Given the description of an element on the screen output the (x, y) to click on. 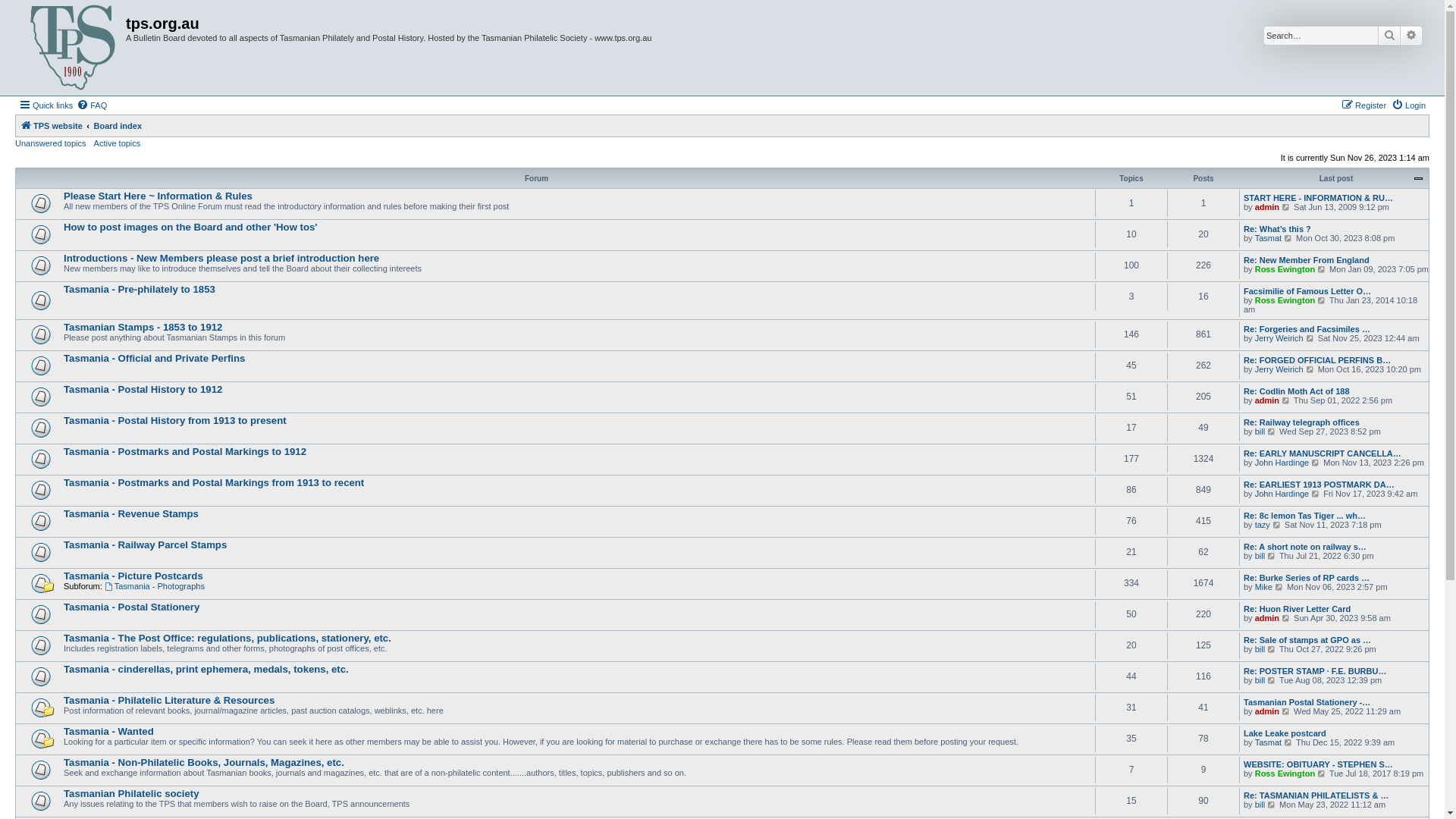
John Hardinge Element type: text (1282, 462)
Search for keywords Element type: hover (1320, 35)
Ross Ewington Element type: text (1284, 299)
View the latest post Element type: text (1272, 431)
Tasmania - Postmarks and Postal Markings from 1913 to recent Element type: text (213, 482)
View the latest post Element type: text (1316, 462)
Re: Railway telegraph offices Element type: text (1301, 421)
View the latest post Element type: text (1272, 555)
Please Start Here ~ Information & Rules Element type: text (157, 195)
Quick links Element type: text (45, 105)
View the latest post Element type: text (1286, 399)
Tasmania - Picture Postcards Element type: text (133, 575)
Tasmania - Postal History from 1913 to present Element type: text (174, 420)
Re: New Member From England Element type: text (1306, 259)
View the latest post Element type: text (1279, 586)
View the latest post Element type: text (1272, 648)
bill Element type: text (1259, 431)
Unanswered topics Element type: text (50, 142)
View the latest post Element type: text (1288, 237)
Tasmania - Pre-philately to 1853 Element type: text (139, 288)
View the latest post Element type: text (1277, 524)
FAQ Element type: text (91, 105)
admin Element type: text (1267, 206)
Advanced search Element type: text (1410, 35)
Login Element type: text (1408, 105)
Tasmania - Wanted Element type: text (108, 731)
View the latest post Element type: text (1316, 493)
View the latest post Element type: text (1286, 206)
bill Element type: text (1259, 679)
Lake Leake postcard Element type: text (1284, 732)
Tasmania - cinderellas, print ephemera, medals, tokens, etc. Element type: text (205, 668)
How to post images on the Board and other 'How tos' Element type: text (190, 226)
View the latest post Element type: text (1288, 741)
Jerry Weirich Element type: text (1279, 368)
Re: Codlin Moth Act of 188 Element type: text (1296, 390)
Tasmania - Railway Parcel Stamps Element type: text (144, 544)
View the latest post Element type: text (1286, 617)
bill Element type: text (1259, 648)
bill Element type: text (1259, 804)
View the latest post Element type: text (1272, 679)
TPS website Element type: text (50, 125)
Re: Huon River Letter Card Element type: text (1296, 608)
Tasmania - Photographs Element type: text (154, 585)
tazy Element type: text (1262, 524)
TPS website Element type: hover (71, 47)
admin Element type: text (1267, 710)
admin Element type: text (1267, 399)
View the latest post Element type: text (1322, 773)
admin Element type: text (1267, 617)
View the latest post Element type: text (1286, 710)
Active topics Element type: text (117, 142)
John Hardinge Element type: text (1282, 493)
Tasmania - Revenue Stamps Element type: text (130, 513)
Tasmania - Philatelic Literature & Resources Element type: text (168, 700)
Tasmania - Official and Private Perfins Element type: text (153, 358)
View the latest post Element type: text (1310, 337)
View the latest post Element type: text (1322, 299)
Tasmania - Postal Stationery Element type: text (131, 606)
Jerry Weirich Element type: text (1279, 337)
View the latest post Element type: text (1310, 368)
Tasmanian Philatelic society Element type: text (131, 793)
Tasmat Element type: text (1268, 741)
Tasmania - Non-Philatelic Books, Journals, Magazines, etc. Element type: text (203, 762)
View the latest post Element type: text (1272, 804)
Register Element type: text (1363, 105)
Ross Ewington Element type: text (1284, 773)
Tasmania - Postmarks and Postal Markings to 1912 Element type: text (184, 451)
bill Element type: text (1259, 555)
Tasmat Element type: text (1268, 237)
Board index Element type: text (117, 125)
Search Element type: text (1388, 35)
Tasmanian Stamps - 1853 to 1912 Element type: text (142, 326)
Ross Ewington Element type: text (1284, 268)
Mike Element type: text (1263, 586)
View the latest post Element type: text (1322, 268)
Tasmania - Postal History to 1912 Element type: text (142, 389)
